Given the description of an element on the screen output the (x, y) to click on. 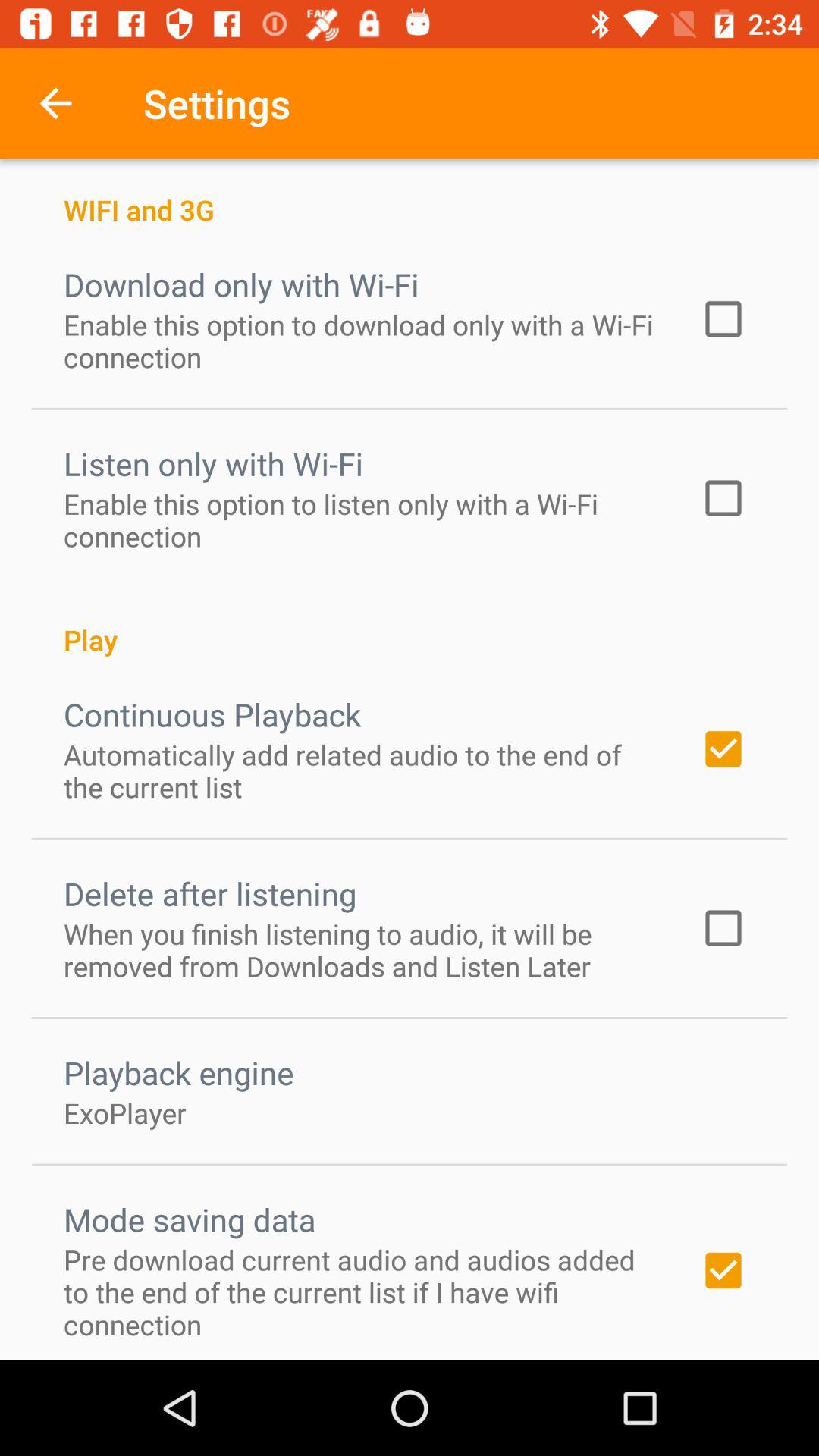
flip to the play item (409, 623)
